Given the description of an element on the screen output the (x, y) to click on. 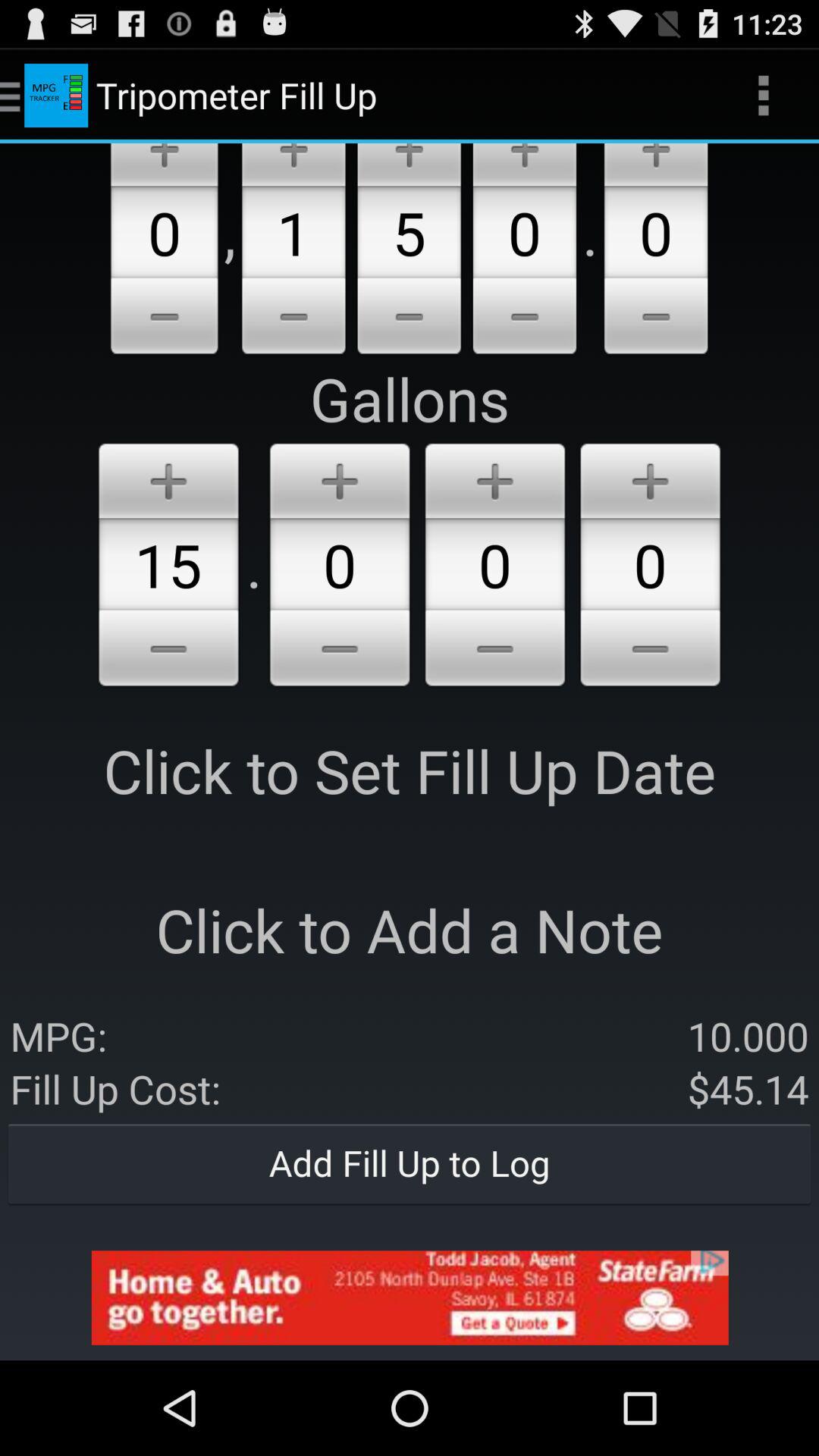
time set (655, 164)
